Given the description of an element on the screen output the (x, y) to click on. 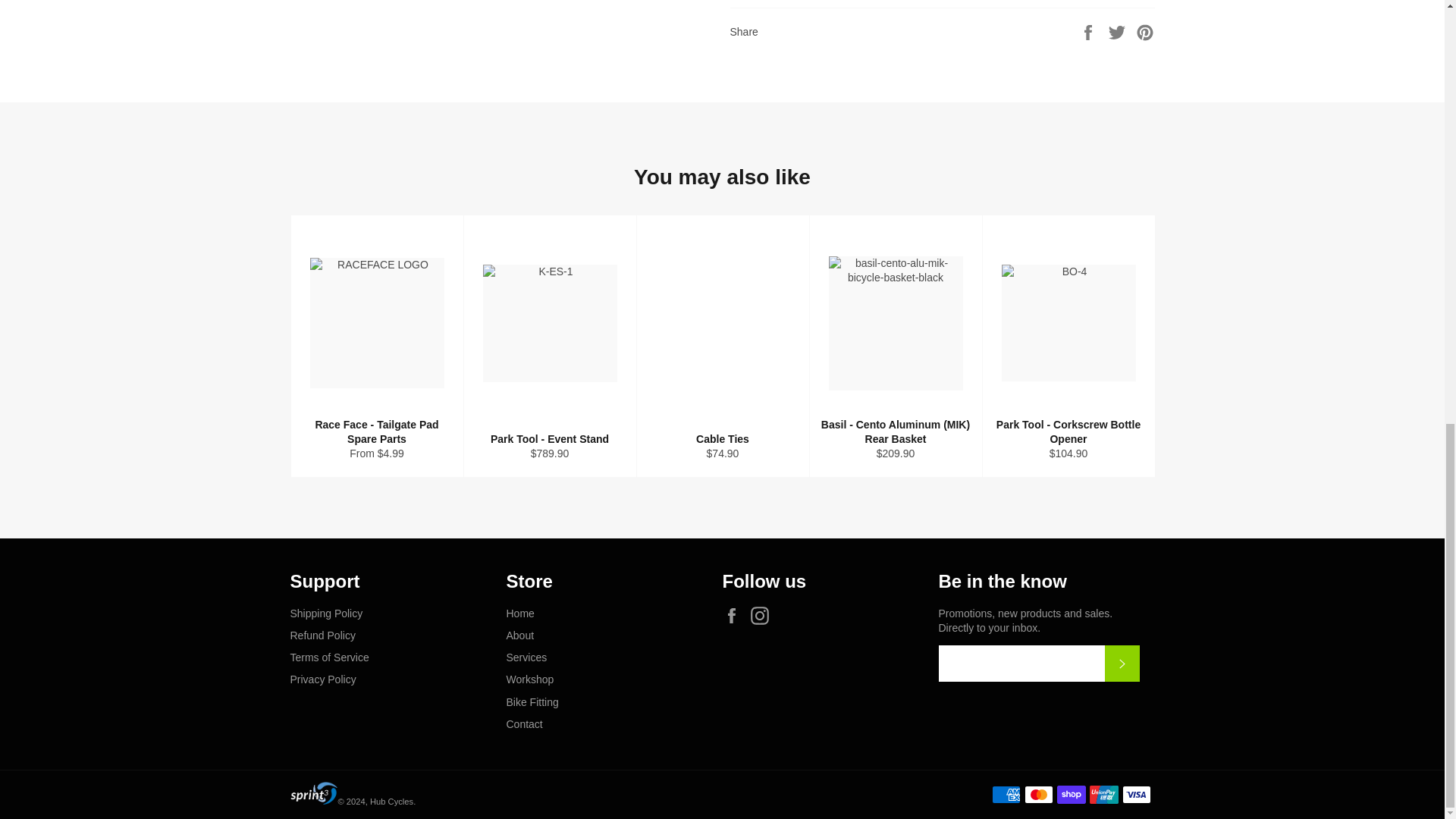
Pin on Pinterest (1144, 31)
My image (313, 793)
Share on Facebook (1089, 31)
Hub Cycles on Facebook (735, 615)
Tweet on Twitter (1118, 31)
Hub Cycles on Instagram (763, 615)
